Given the description of an element on the screen output the (x, y) to click on. 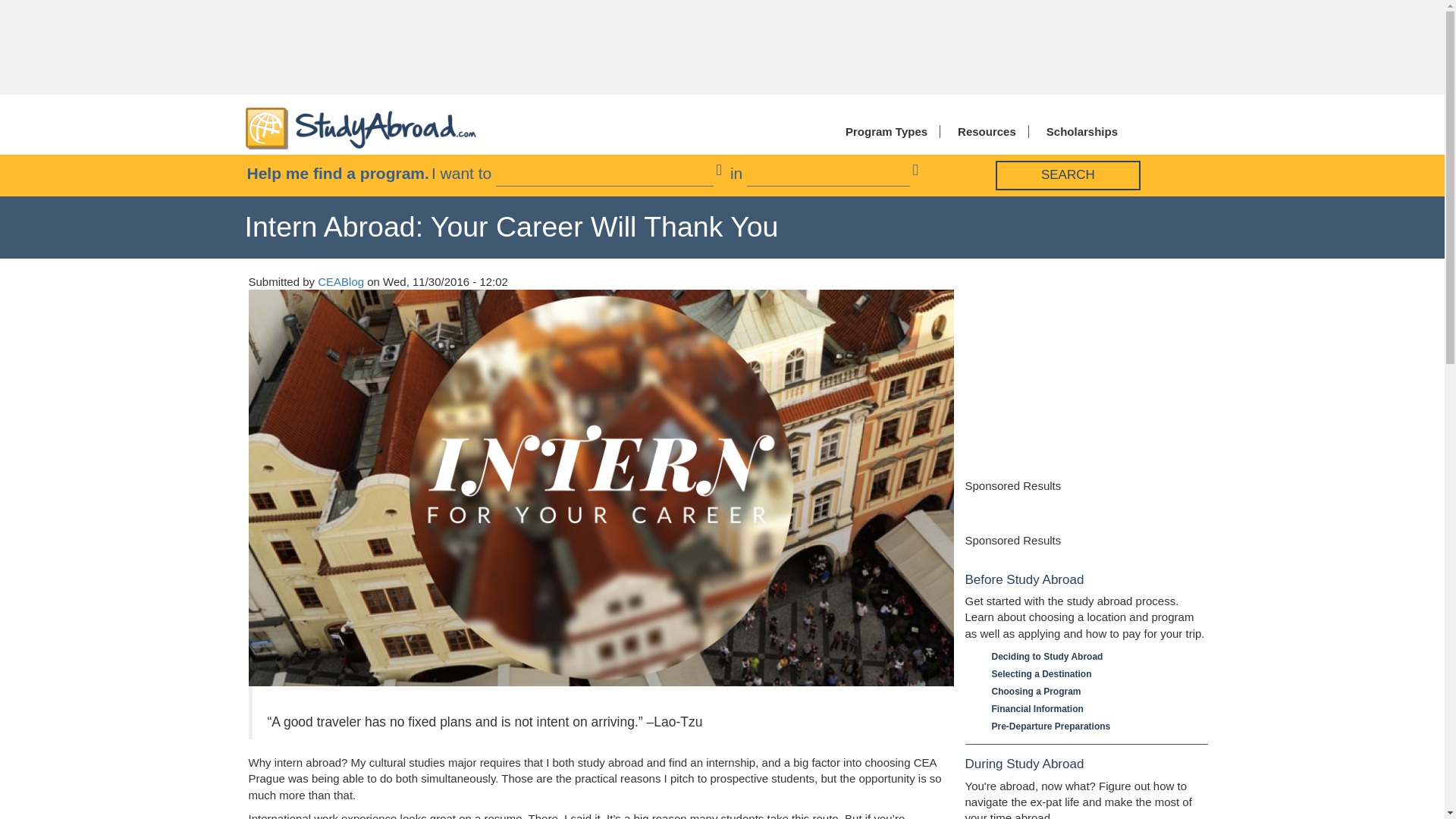
During Study Abroad (1085, 764)
Deciding to Study Abroad (1092, 657)
Selecting a Destination (1092, 674)
SEARCH (1067, 174)
Before Study Abroad (1085, 580)
Program Types (883, 131)
Sponsored Results (1012, 540)
Pre-Departure Preparations (1092, 726)
Sponsored Results (1012, 485)
Scholarships (1078, 131)
CEABlog (340, 281)
StudyAbroad.com (360, 126)
Choosing a Program (1092, 691)
Financial Information (1092, 709)
